Given the description of an element on the screen output the (x, y) to click on. 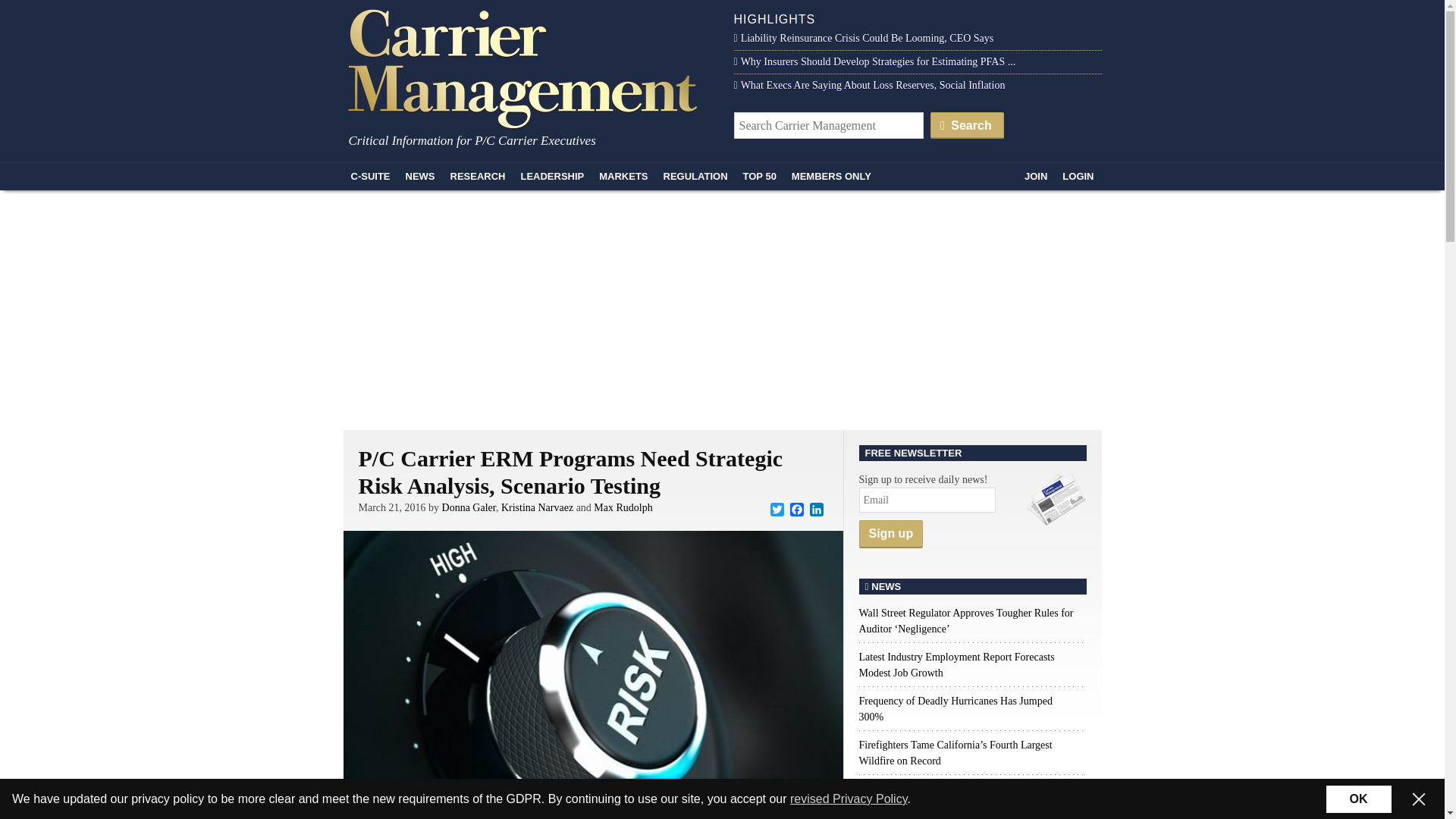
Carrier Management (527, 67)
LEADERSHIP (551, 176)
REGULATION (695, 176)
C-SUITE (369, 176)
TOP 50 (759, 176)
JOIN (1035, 176)
What Execs Are Saying About Loss Reserves, Social Inflation (869, 84)
Liability Reinsurance Crisis Could Be Looming, CEO Says (863, 38)
LOGIN (1077, 176)
Search (967, 125)
